Given the description of an element on the screen output the (x, y) to click on. 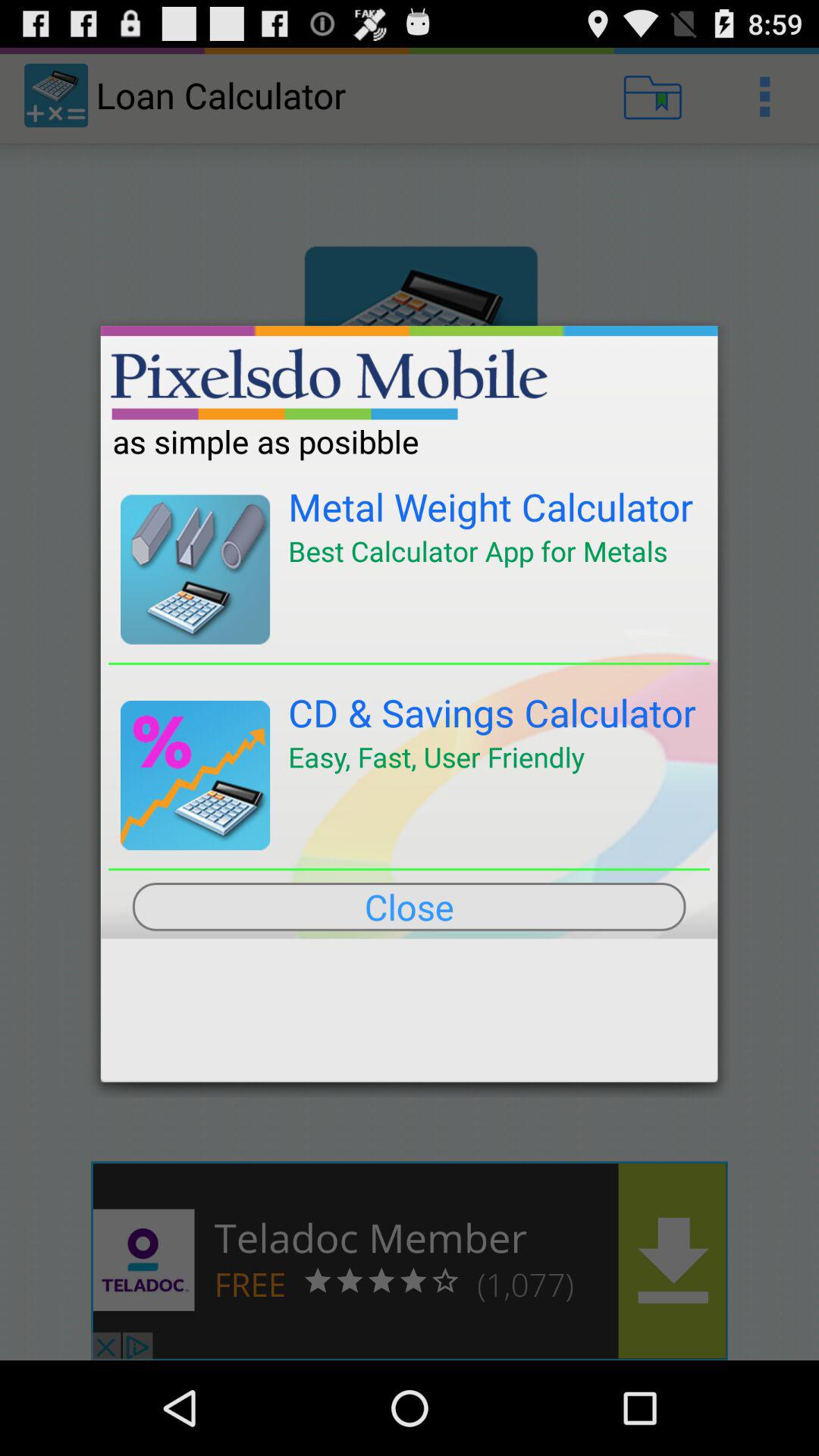
swipe to close (408, 906)
